Given the description of an element on the screen output the (x, y) to click on. 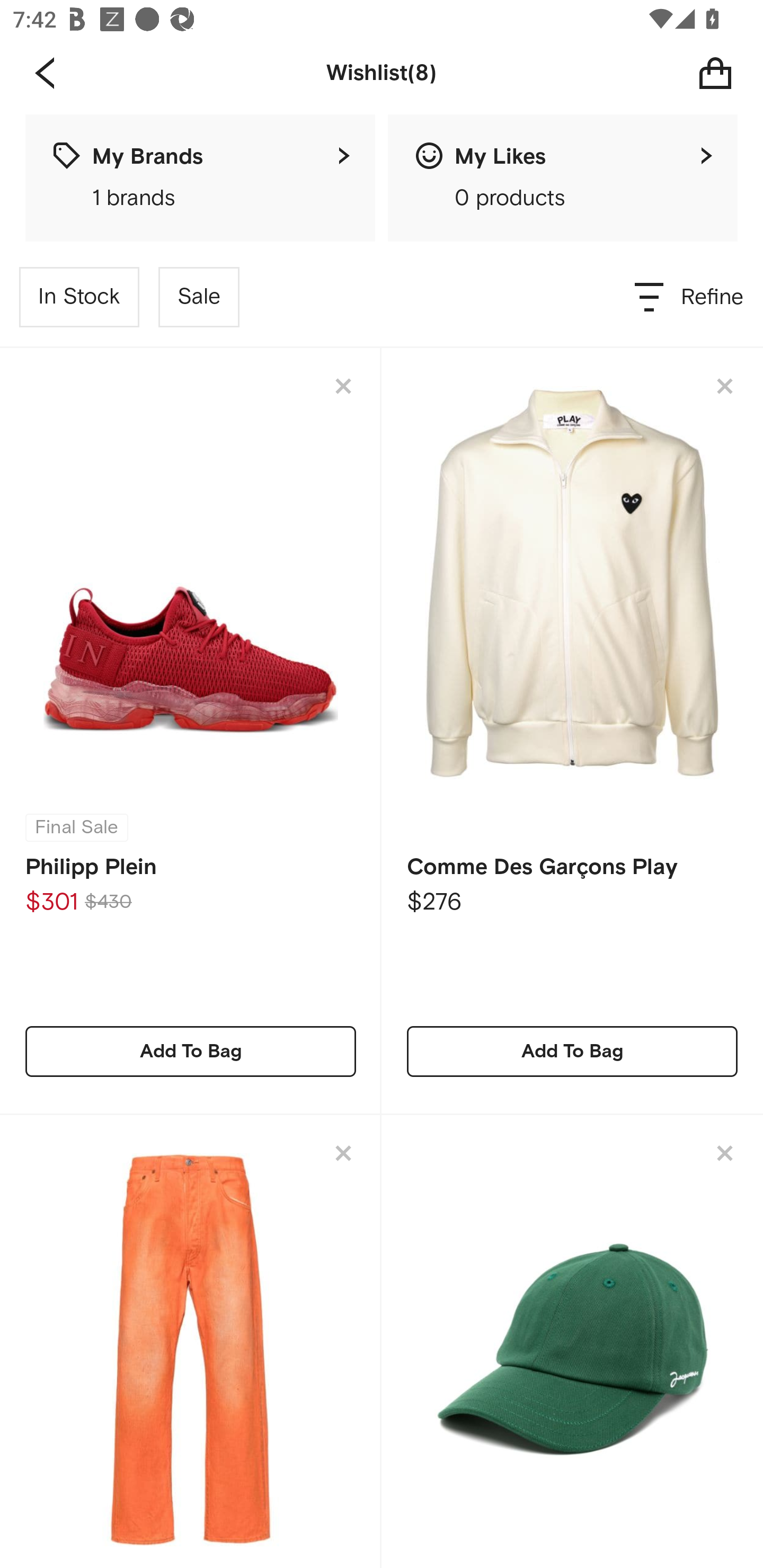
My Brands 1 brands (200, 177)
My Likes 0 products (562, 177)
In Stock (79, 296)
Sale (198, 296)
Refine (690, 296)
Final Sale Philipp Plein $301 $430 Add To Bag (190, 731)
Comme Des Garçons Play $276 Add To Bag (572, 731)
Add To Bag (190, 1050)
Add To Bag (571, 1050)
